Given the description of an element on the screen output the (x, y) to click on. 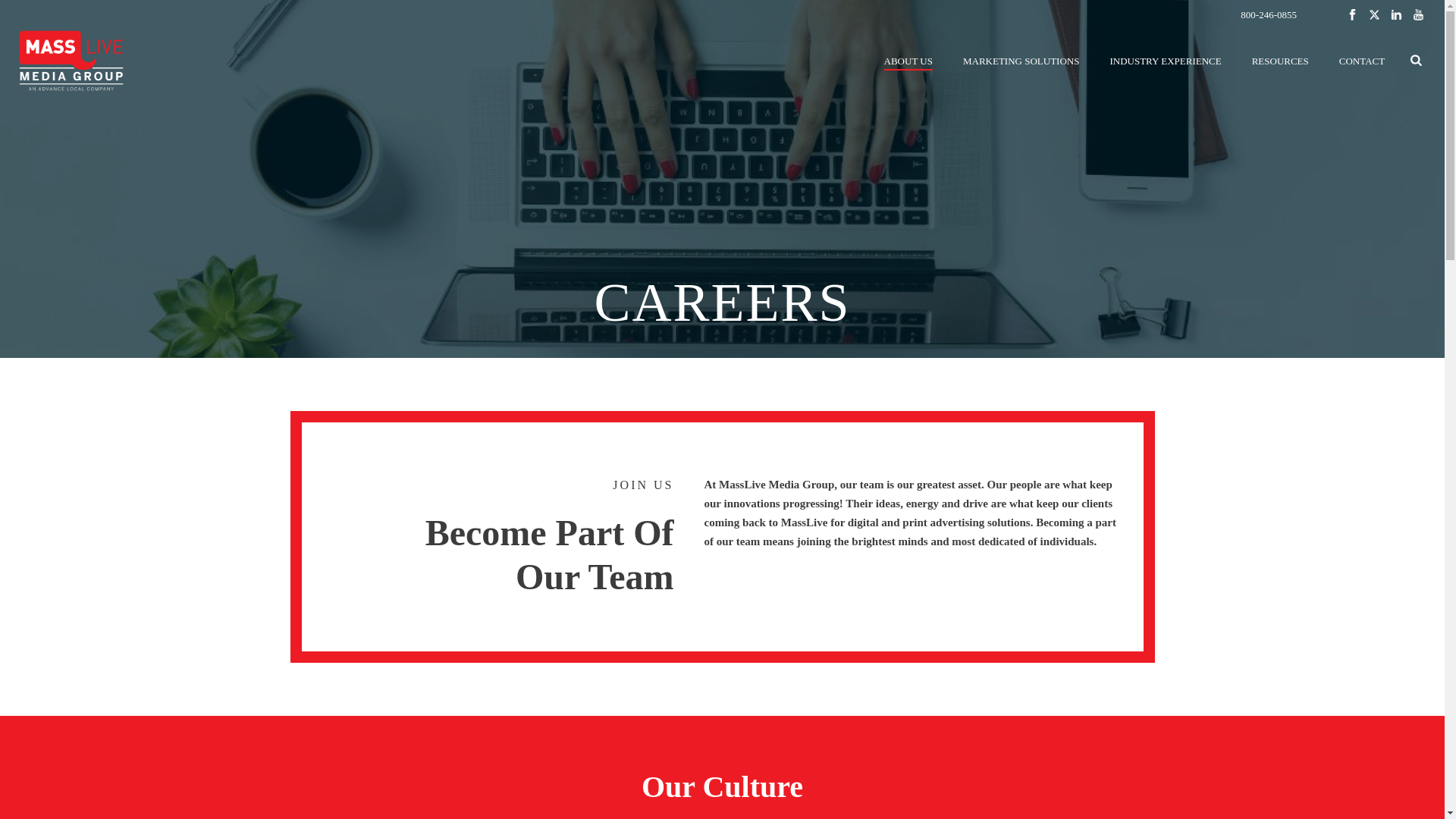
800-246-0855 (1268, 14)
RESOURCES (1279, 61)
INDUSTRY EXPERIENCE (1165, 61)
RESOURCES (1279, 61)
MARKETING SOLUTIONS (1020, 61)
CONTACT (1361, 61)
ABOUT US (908, 61)
CONTACT (1361, 61)
ABOUT US (908, 61)
INDUSTRY EXPERIENCE (1165, 61)
MARKETING SOLUTIONS (1020, 61)
